Given the description of an element on the screen output the (x, y) to click on. 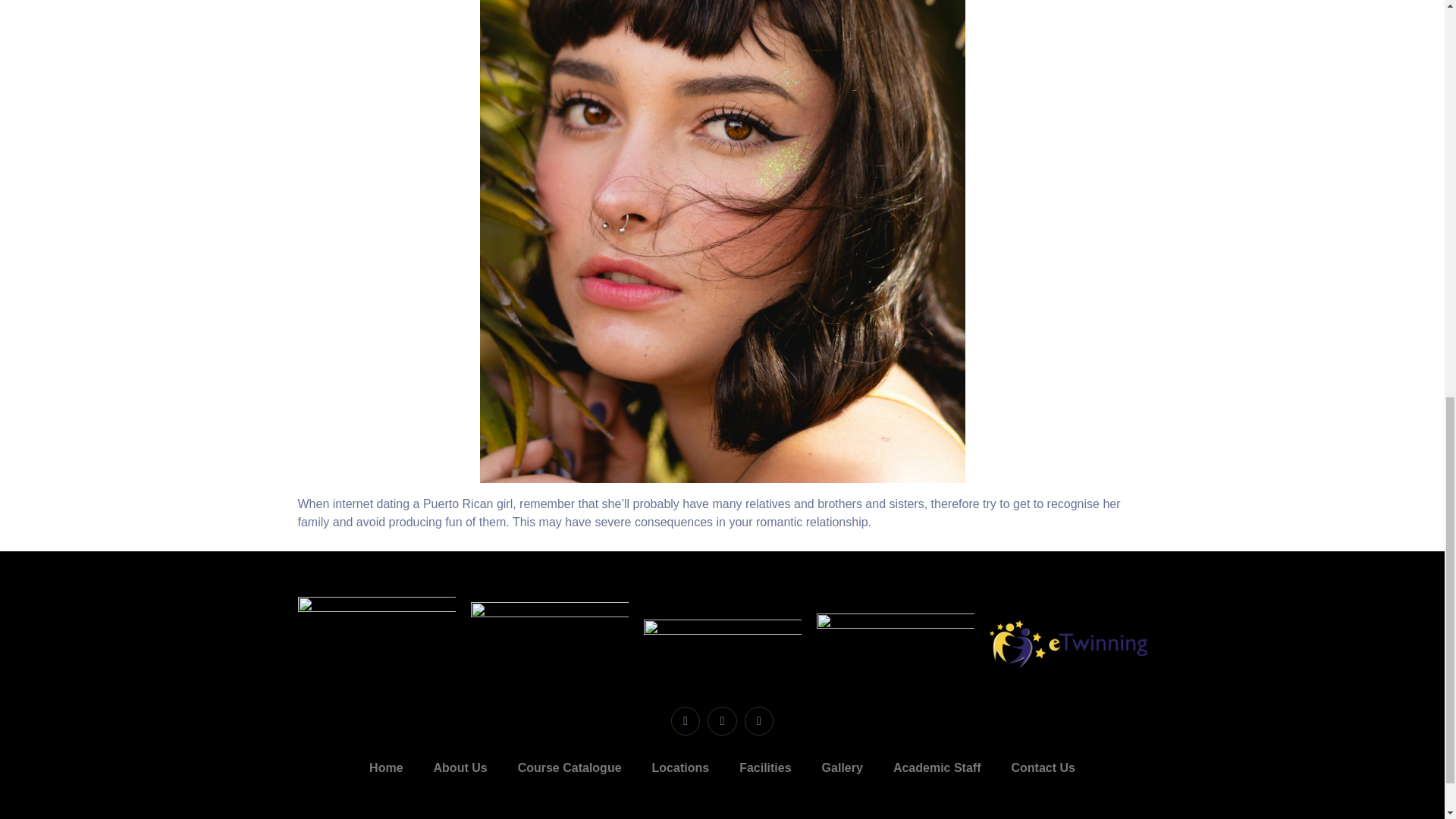
Gallery (841, 768)
Academic Staff (936, 768)
Home (385, 768)
Contact Us (1042, 768)
About Us (460, 768)
Facilities (764, 768)
Course Catalogue (569, 768)
Locations (681, 768)
